Given the description of an element on the screen output the (x, y) to click on. 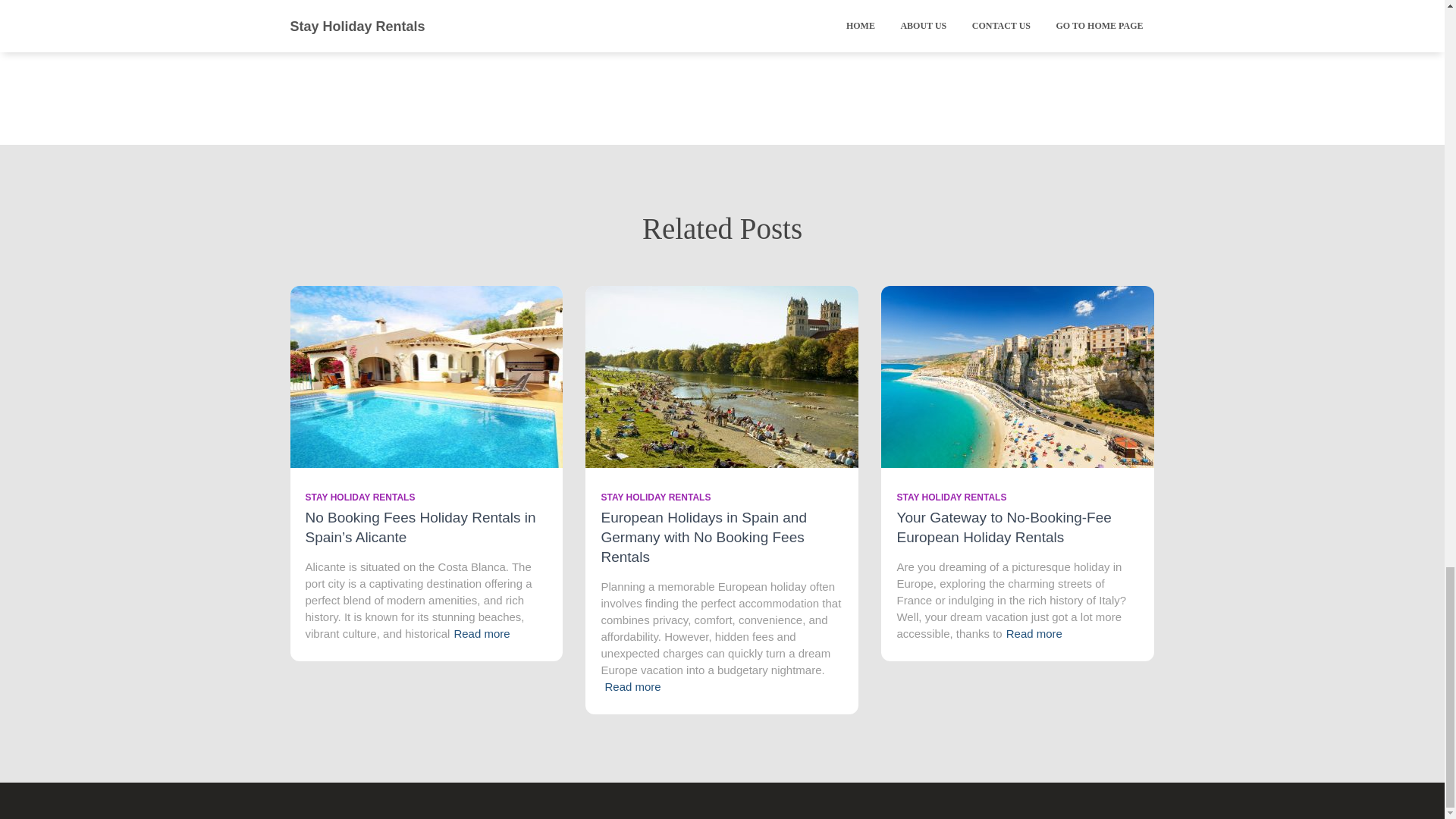
View all posts in Stay Holiday Rentals (654, 497)
Post Comment (798, 8)
Your Gateway to No-Booking-Fee European Holiday Rentals (1017, 375)
Post Comment (798, 8)
View all posts in Stay Holiday Rentals (951, 497)
View all posts in Stay Holiday Rentals (359, 497)
